Given the description of an element on the screen output the (x, y) to click on. 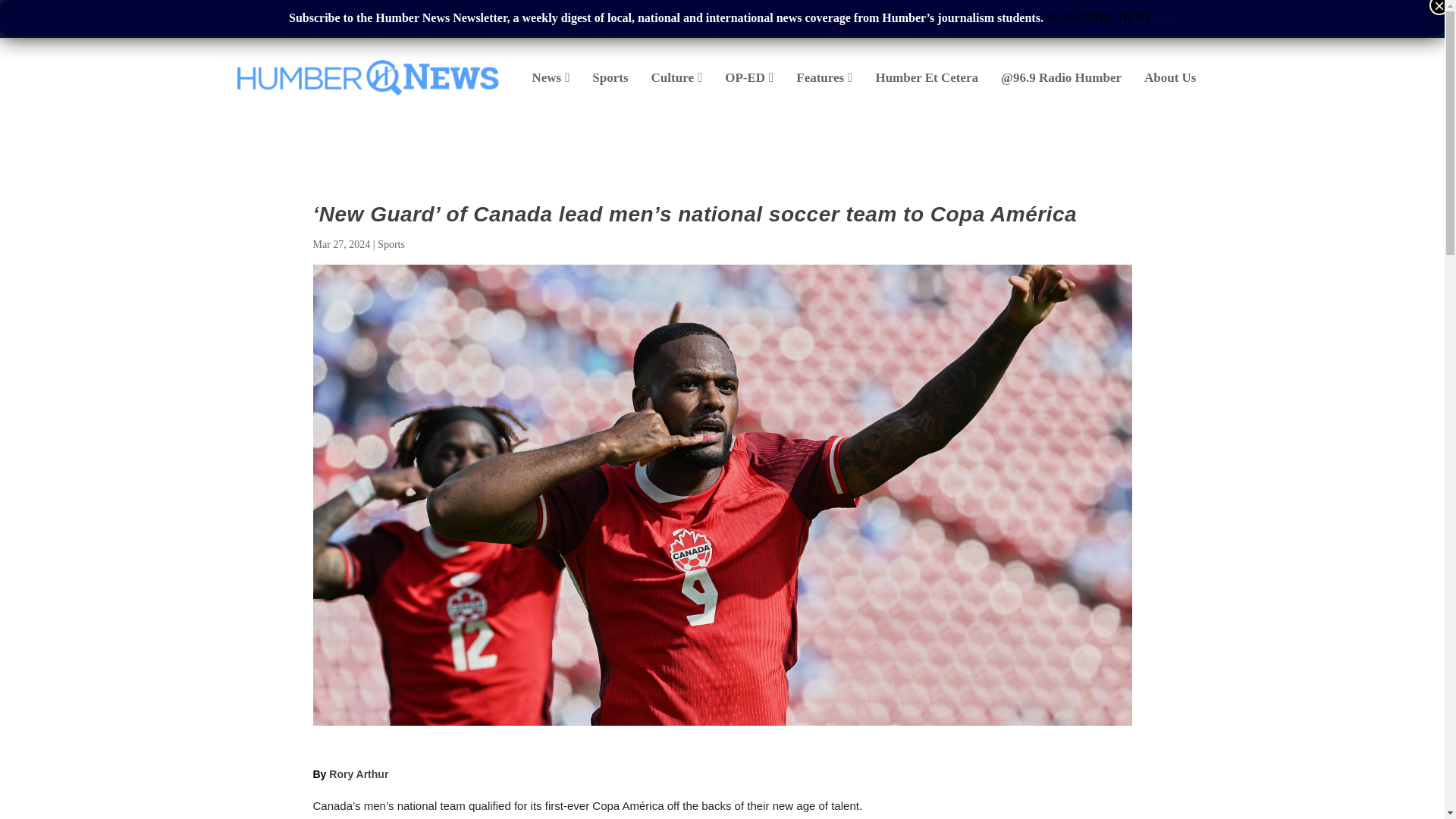
Features (823, 94)
Search for: (1161, 18)
OP-ED (749, 94)
Humber Et Cetera (926, 94)
About Us (1170, 94)
Sports (609, 94)
News (550, 94)
Culture (676, 94)
